Given the description of an element on the screen output the (x, y) to click on. 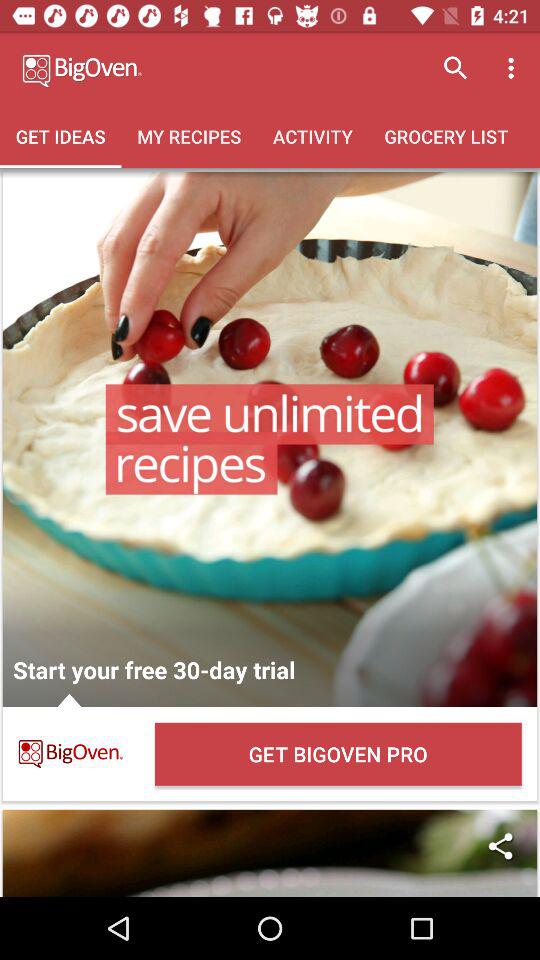
turn off icon below the get bigoven pro item (500, 846)
